Given the description of an element on the screen output the (x, y) to click on. 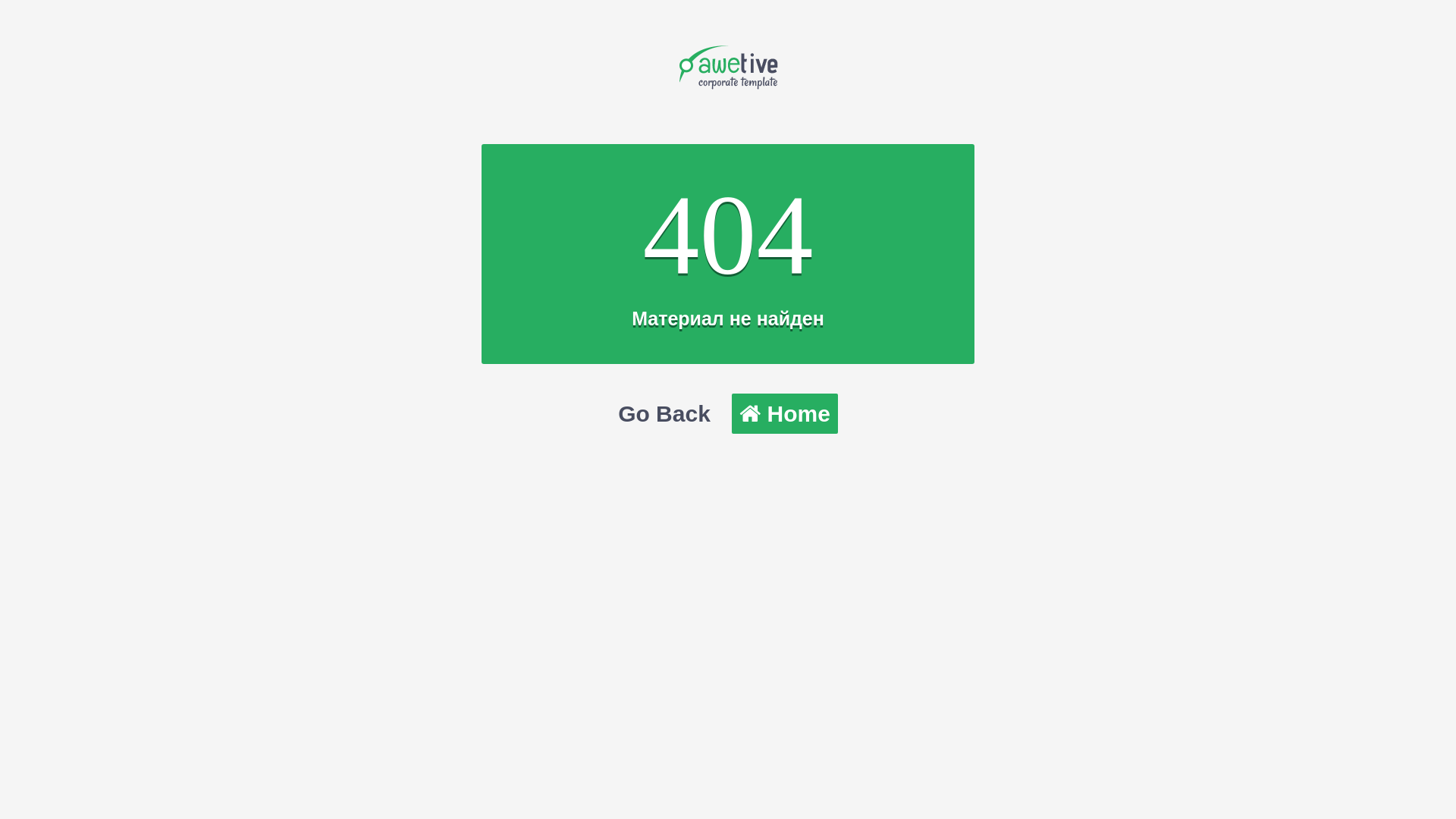
Home Element type: text (784, 413)
